Given the description of an element on the screen output the (x, y) to click on. 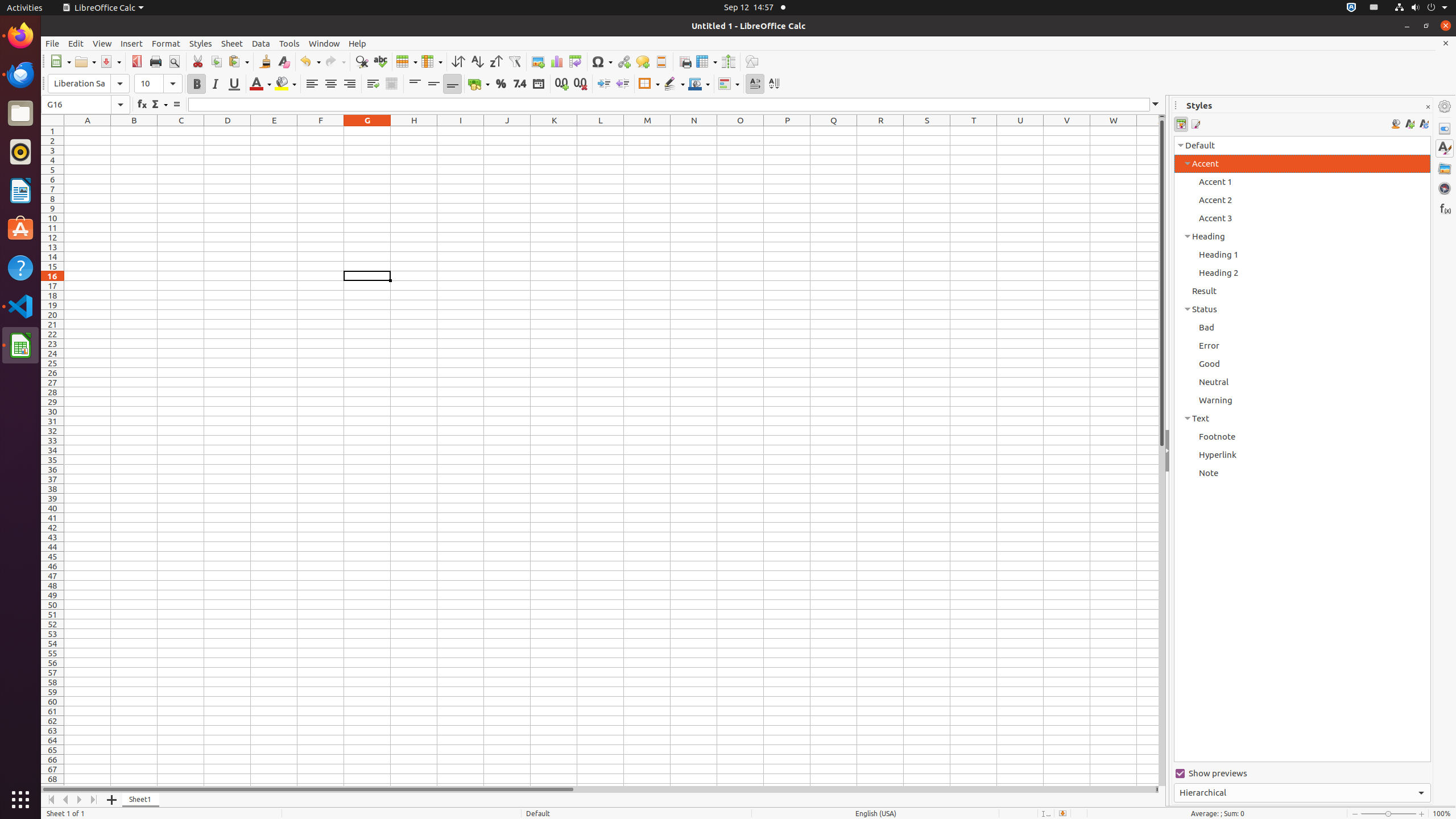
Vertical scroll bar Element type: scroll-bar (1161, 451)
Tools Element type: menu (289, 43)
E1 Element type: table-cell (273, 130)
Sort Ascending Element type: push-button (476, 61)
:1.72/StatusNotifierItem Element type: menu (1350, 7)
